Given the description of an element on the screen output the (x, y) to click on. 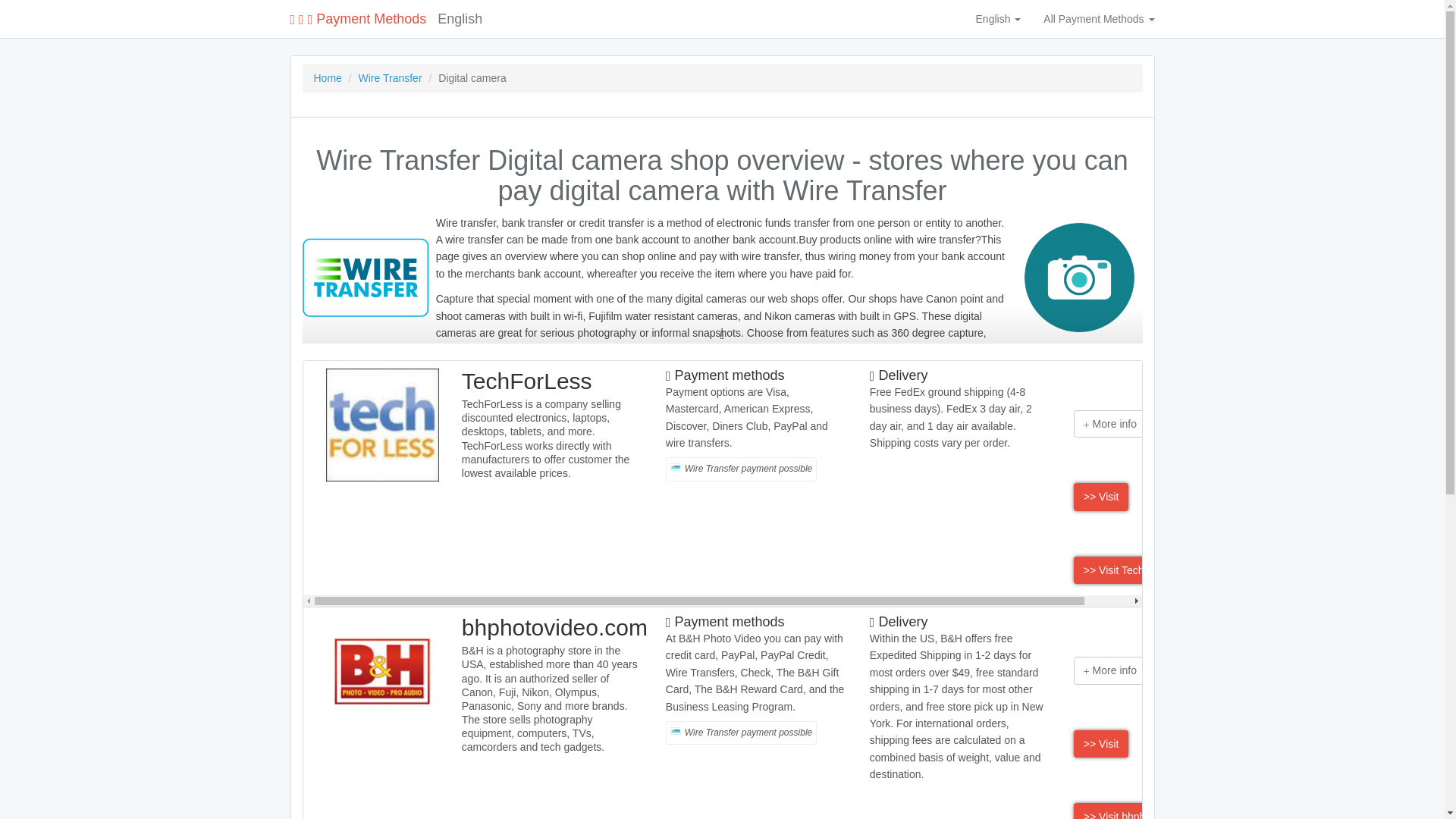
Home (328, 78)
Payment Methods (358, 18)
Wire Transfer (390, 78)
All Payment Methods (1099, 18)
English (997, 18)
